Given the description of an element on the screen output the (x, y) to click on. 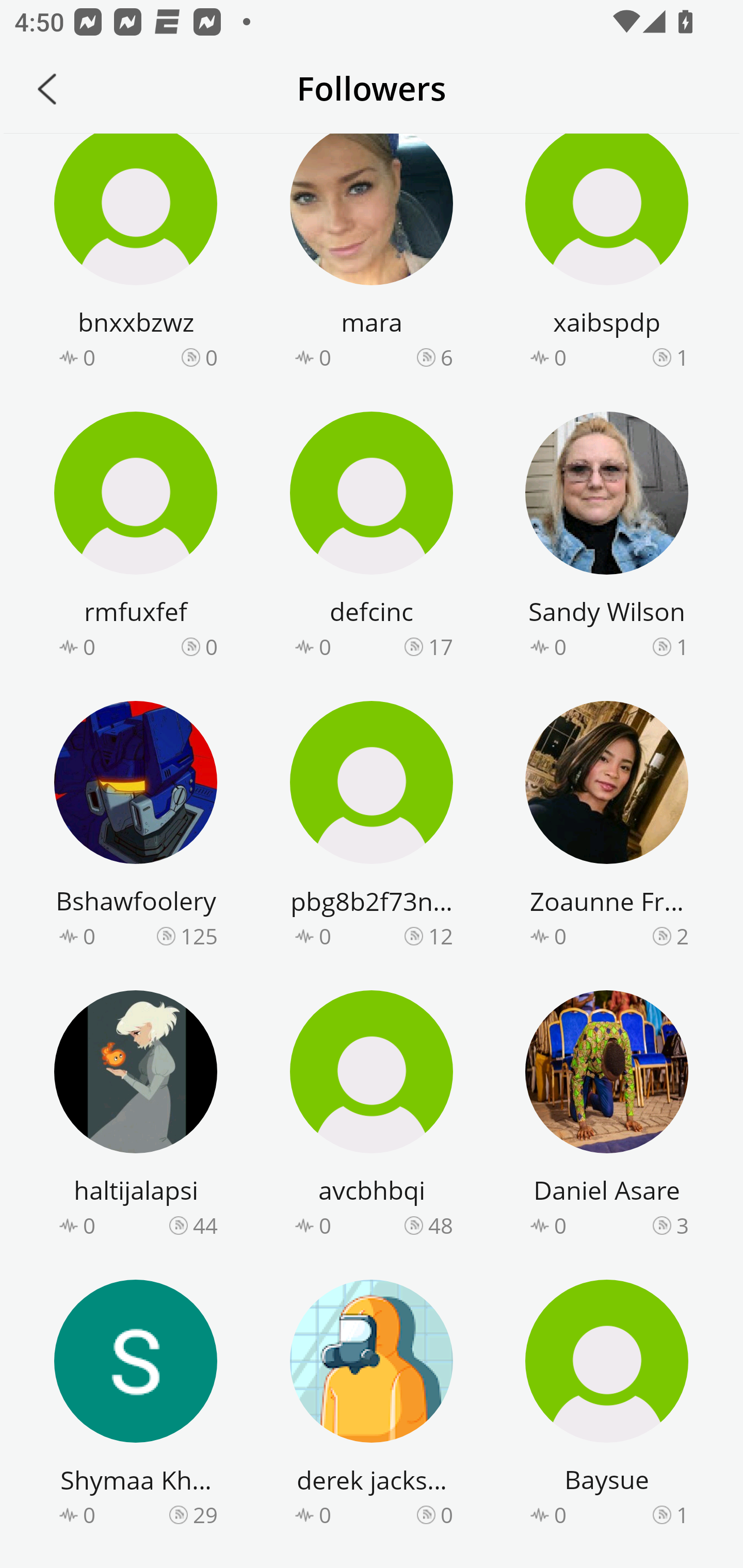
Back (46, 88)
bnxxbzwz 0 0 (135, 253)
mara 0 6 (371, 253)
xaibspdp 0 1 (606, 253)
0 (211, 357)
6 (446, 357)
1 (682, 357)
rmfuxfef 0 0 (135, 537)
defcinc 0 17 (371, 537)
Sandy Wilson 0 1 (606, 537)
0 (211, 646)
17 (440, 646)
1 (682, 646)
Bshawfoolery 0 125 (135, 827)
pbg8b2f73ntyg 0 12 (371, 827)
Zoaunne Franco 0 2 (606, 827)
125 (198, 936)
12 (440, 936)
2 (682, 936)
haltijalapsi 0 44 (135, 1116)
avcbhbqi 0 48 (371, 1116)
Daniel Asare 0 3 (606, 1116)
44 (205, 1225)
48 (440, 1225)
3 (682, 1225)
Shymaa Khaireldeen 0 29 (135, 1406)
derek jackson jr 0 0 (371, 1406)
Baysue 0 1 (606, 1406)
29 (205, 1515)
0 (446, 1515)
1 (682, 1515)
